Given the description of an element on the screen output the (x, y) to click on. 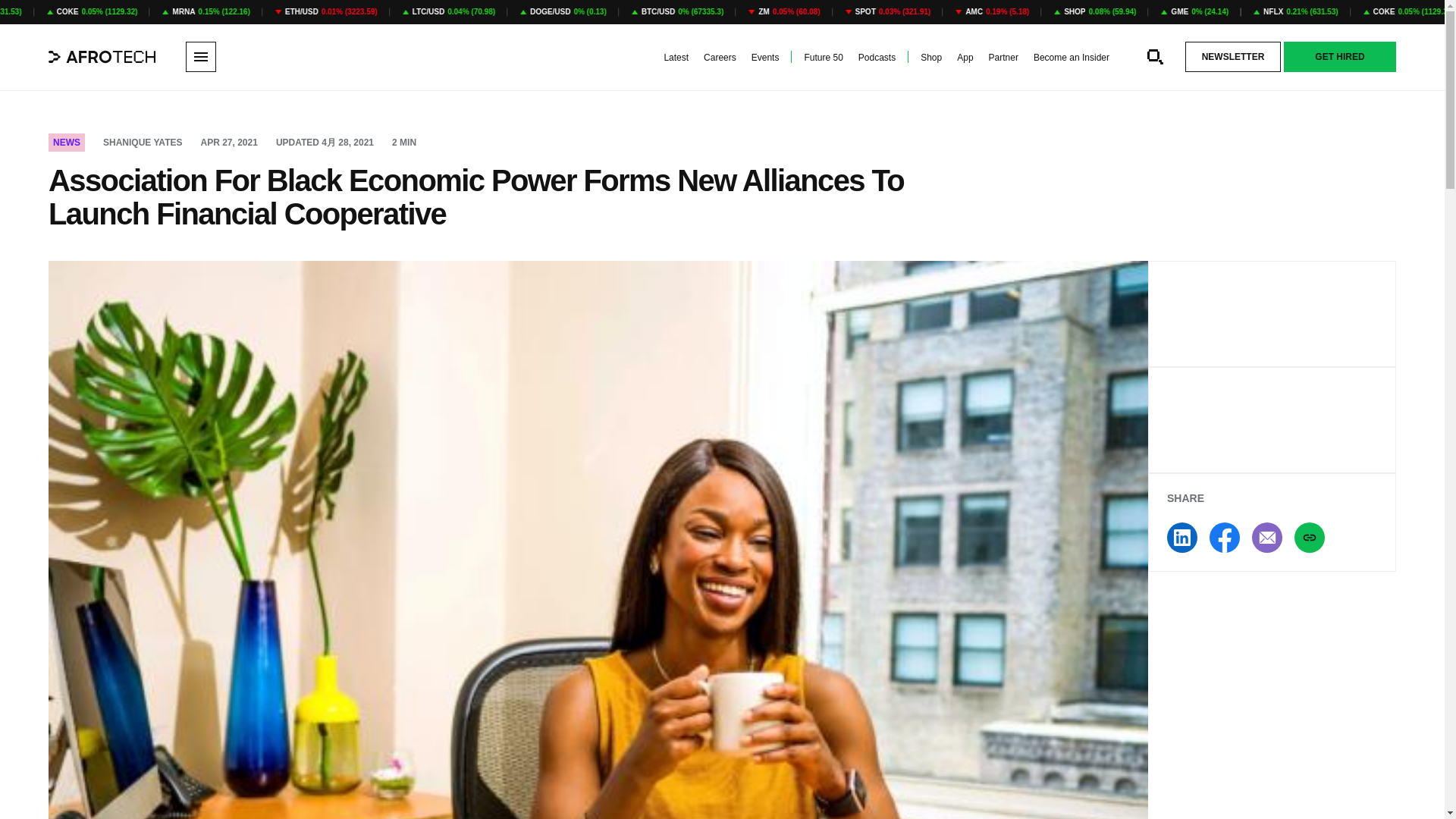
App (964, 57)
Events (764, 57)
Careers (719, 57)
Shop (931, 57)
Future 50 (823, 57)
NEWSLETTER (1233, 56)
Partner (1002, 57)
Latest (675, 57)
Become an Insider (1071, 57)
NEWS (66, 142)
GET HIRED (1340, 56)
Podcasts (877, 57)
SHANIQUE YATES (142, 142)
